Given the description of an element on the screen output the (x, y) to click on. 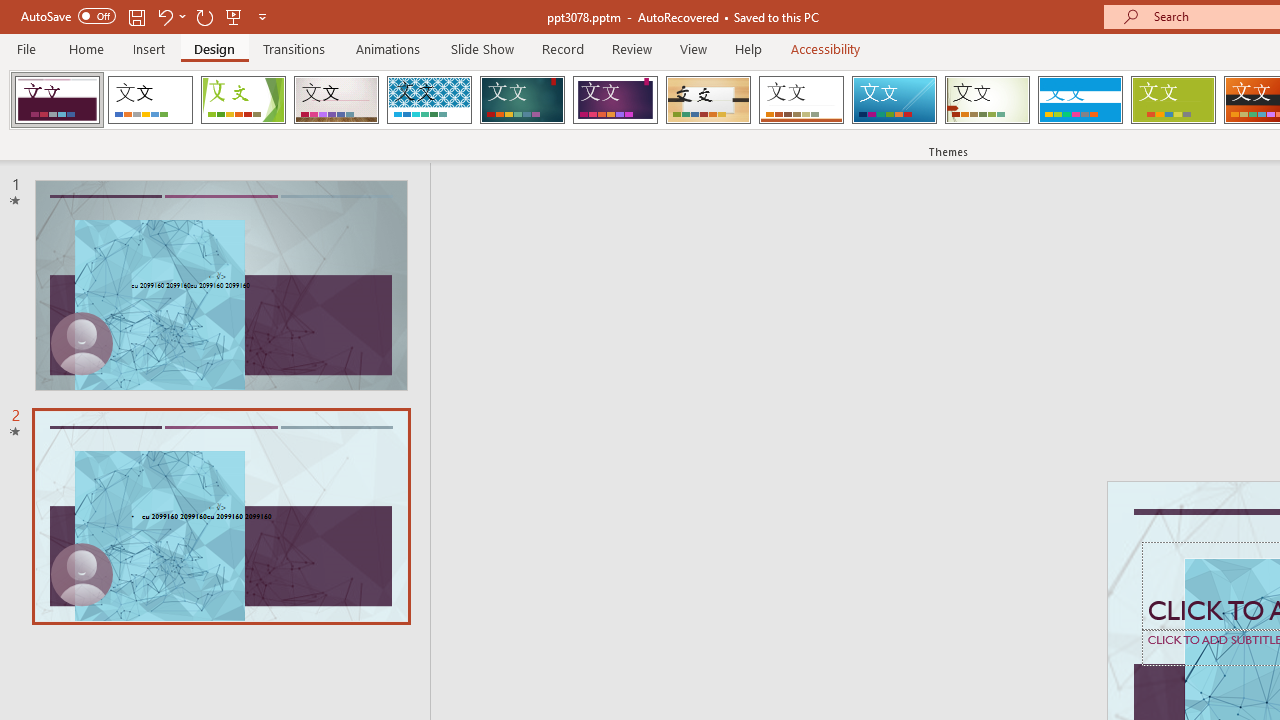
Dividend (57, 100)
Facet (243, 100)
Gallery (336, 100)
Ion (522, 100)
Basis (1172, 100)
Slice (893, 100)
Wisp (987, 100)
Banded (1080, 100)
